Given the description of an element on the screen output the (x, y) to click on. 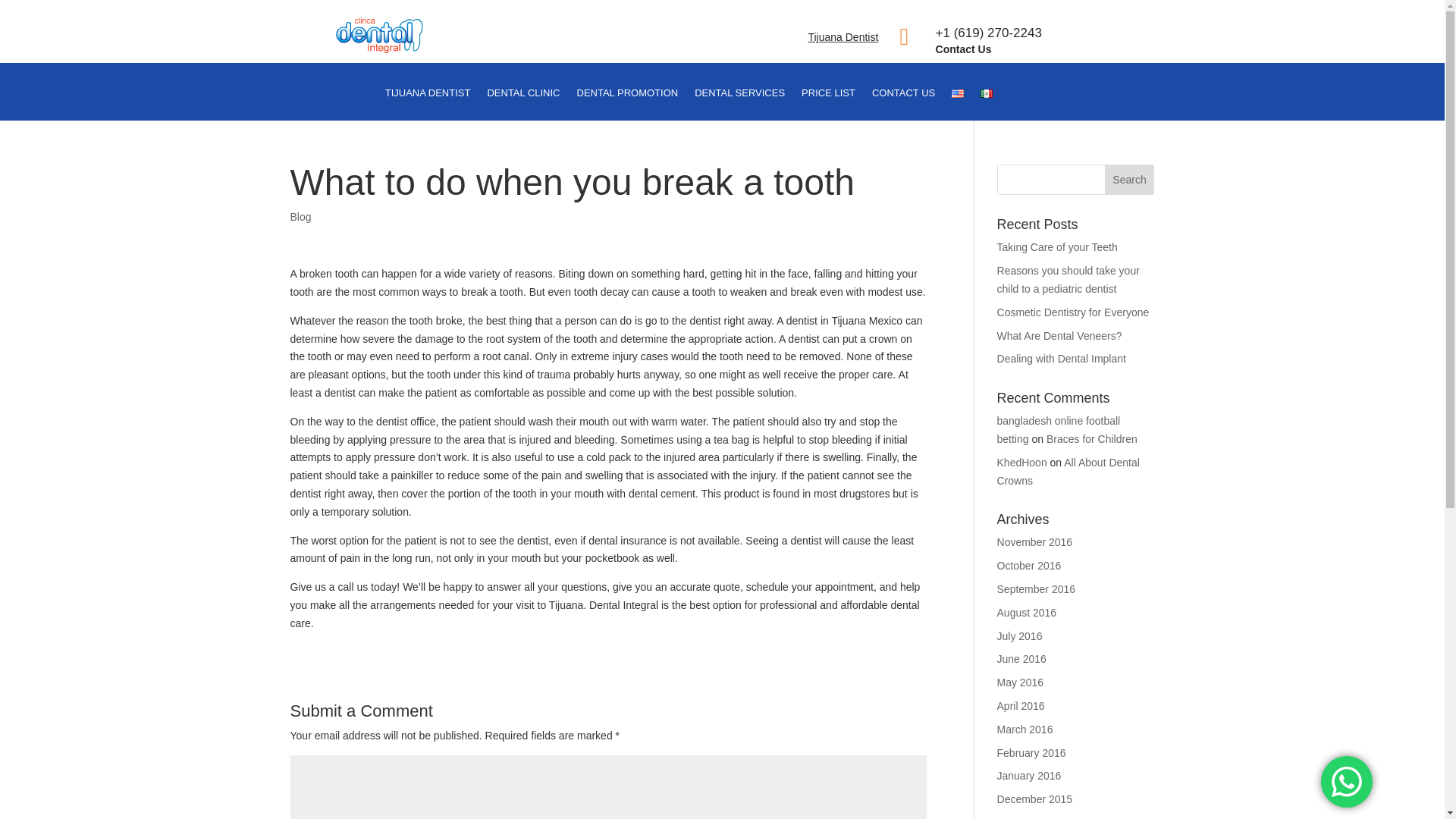
May 2016 (1020, 682)
TIJUANA DENTIST (427, 103)
Tijuana Dentist (842, 37)
August 2016 (1027, 612)
April 2016 (1021, 705)
Search (1129, 179)
Tijuana Dentist (379, 34)
Tijuana Dentist (427, 103)
Reasons you should take your child to a pediatric dentist (1068, 279)
Contact us your dentist in Tijuana (903, 103)
June 2016 (1021, 658)
November 2016 (1035, 541)
September 2016 (1036, 589)
CONTACT US (903, 103)
DENTAL SERVICES (739, 103)
